Given the description of an element on the screen output the (x, y) to click on. 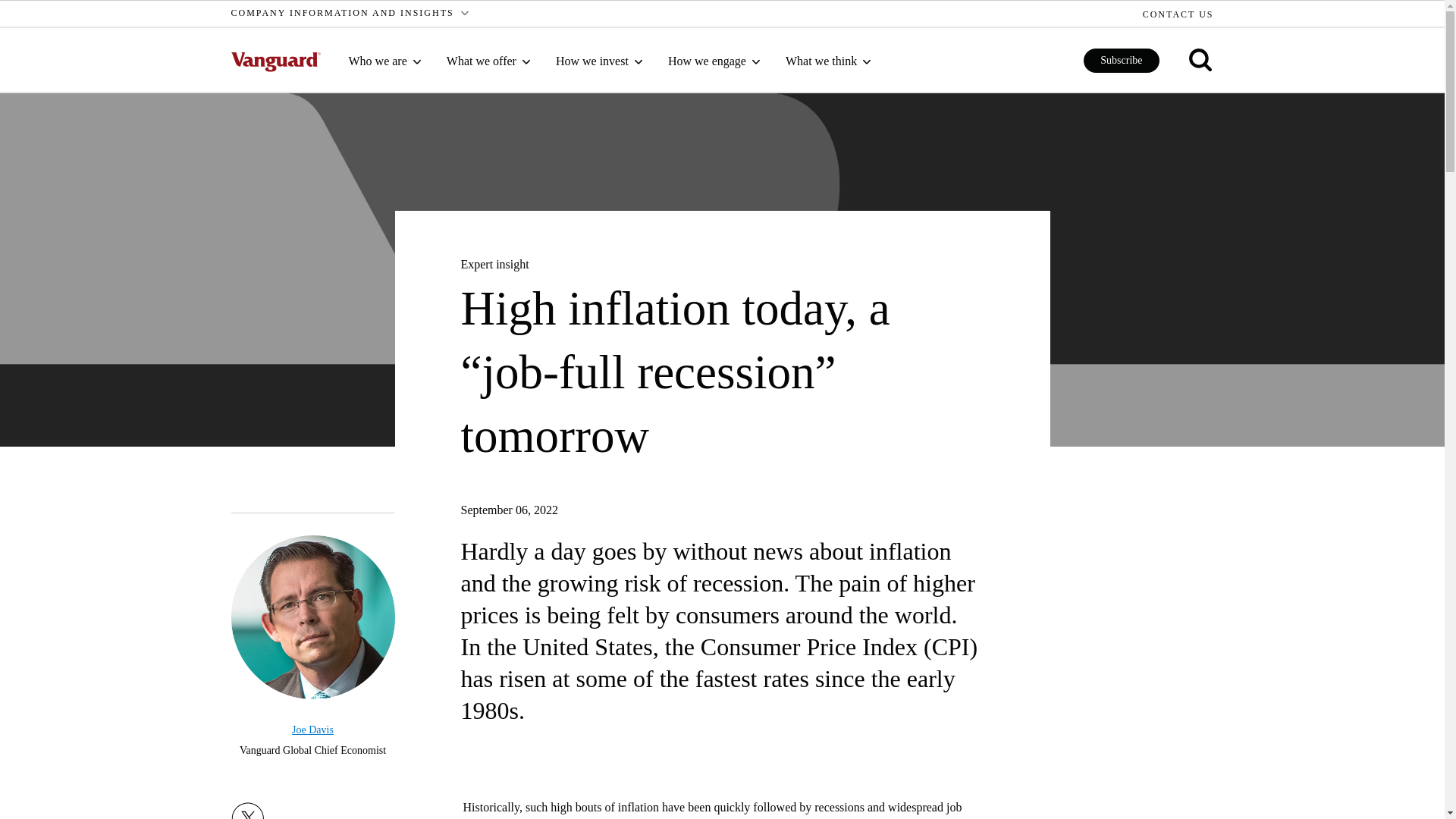
Open author biography (312, 729)
SAVE PREFERENCE (264, 93)
Search (1190, 58)
The Vanguard Group (275, 63)
SAVE PREFERENCE (264, 289)
Who we are (386, 61)
What we offer (489, 61)
CONTACT US (1178, 14)
Subscribe (1120, 60)
COMPANY INFORMATION AND INSIGHTS (350, 12)
